Given the description of an element on the screen output the (x, y) to click on. 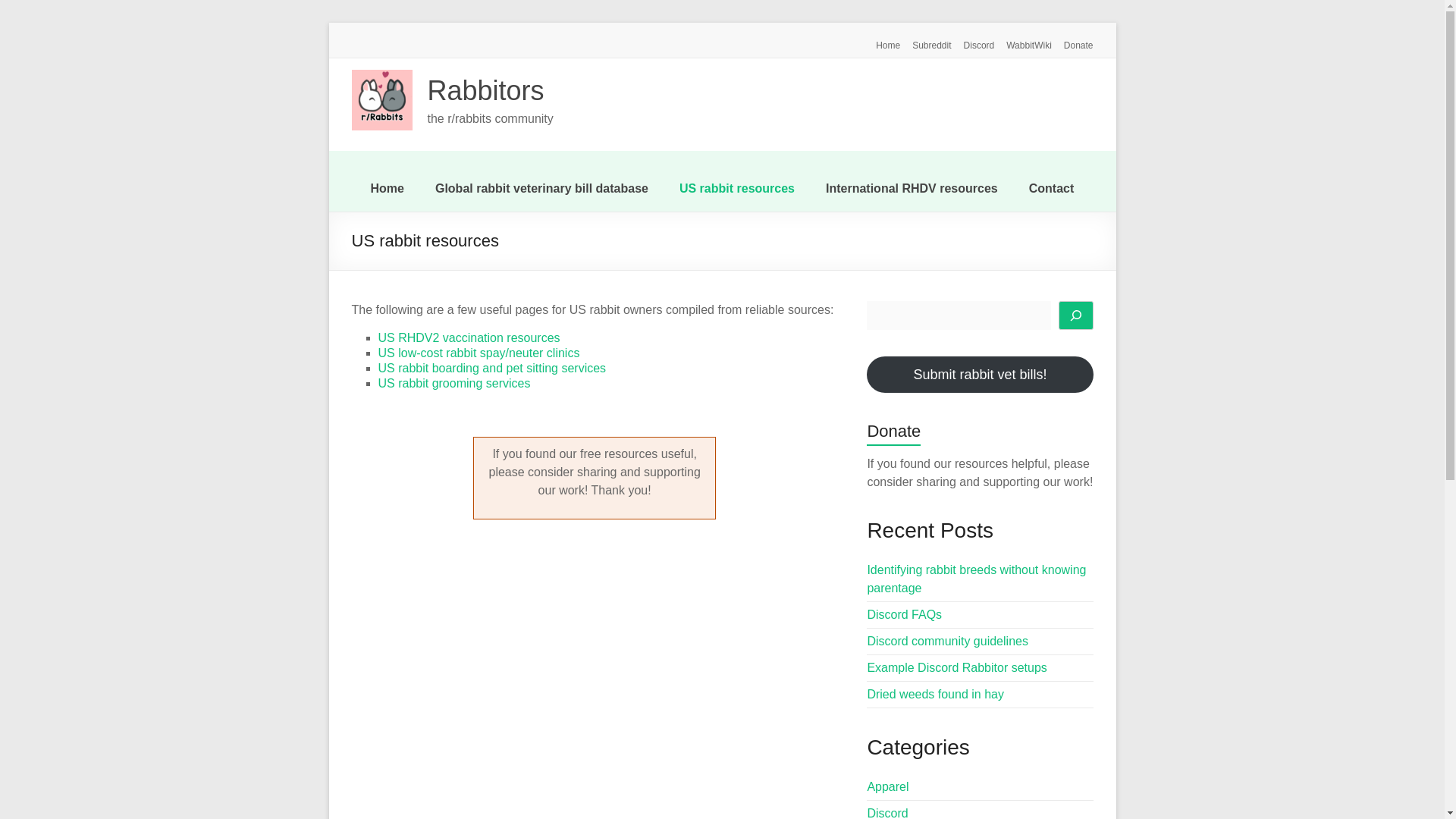
US rabbit resources (736, 188)
Apparel (887, 786)
Rabbitors (486, 90)
US rabbit grooming services (453, 382)
Subreddit (924, 41)
Discord (973, 41)
Discord community guidelines (946, 640)
Submit rabbit vet bills! (979, 374)
US rabbit boarding and pet sitting services (491, 367)
Dried weeds found in hay (935, 694)
US RHDV2 vaccination resources (468, 337)
Donate (1072, 41)
Rabbitors (486, 90)
Discord (886, 812)
